Given the description of an element on the screen output the (x, y) to click on. 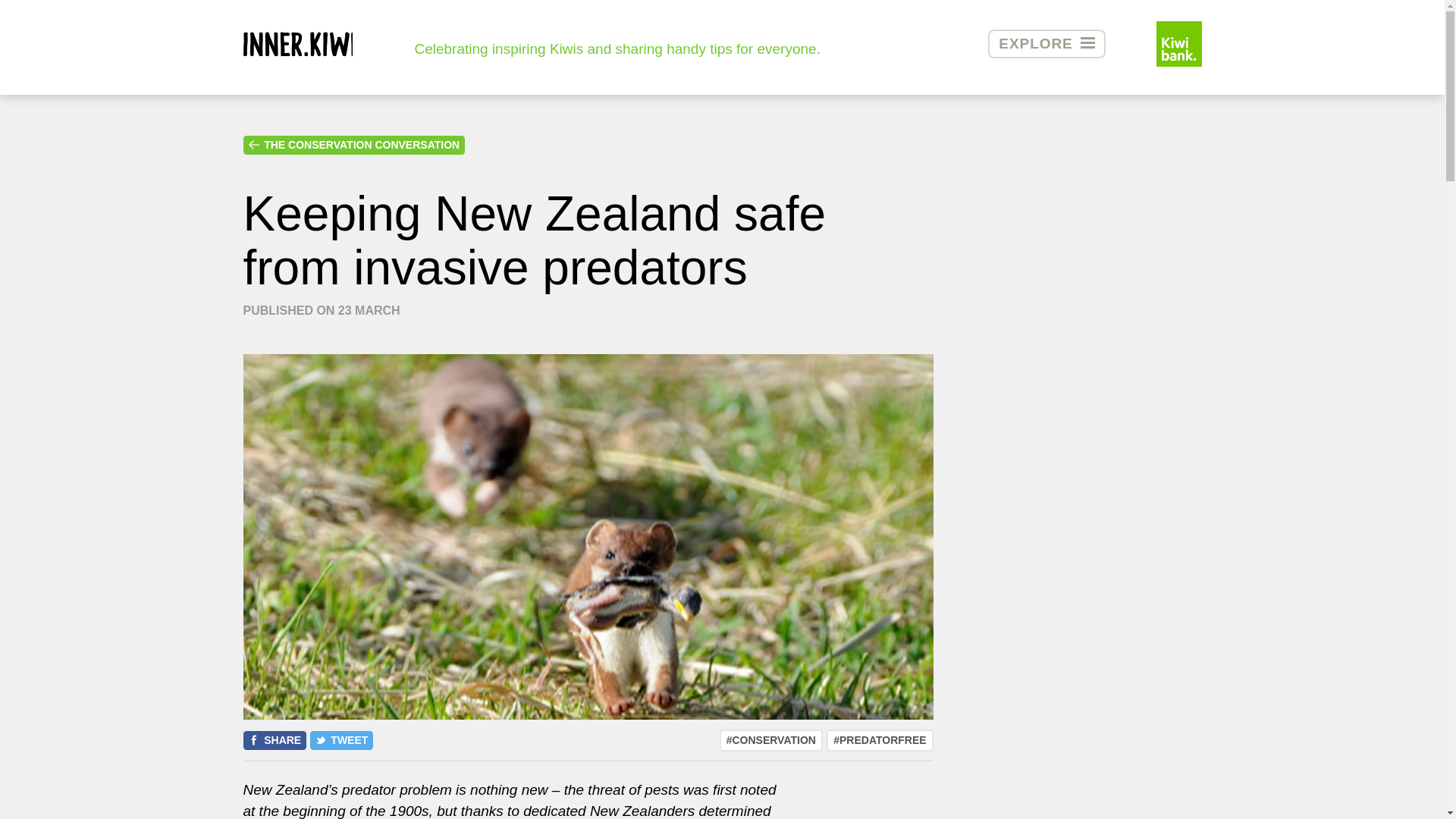
Kiwibank (1179, 42)
inner.kiwi (297, 43)
EXPLORE (1046, 43)
